Given the description of an element on the screen output the (x, y) to click on. 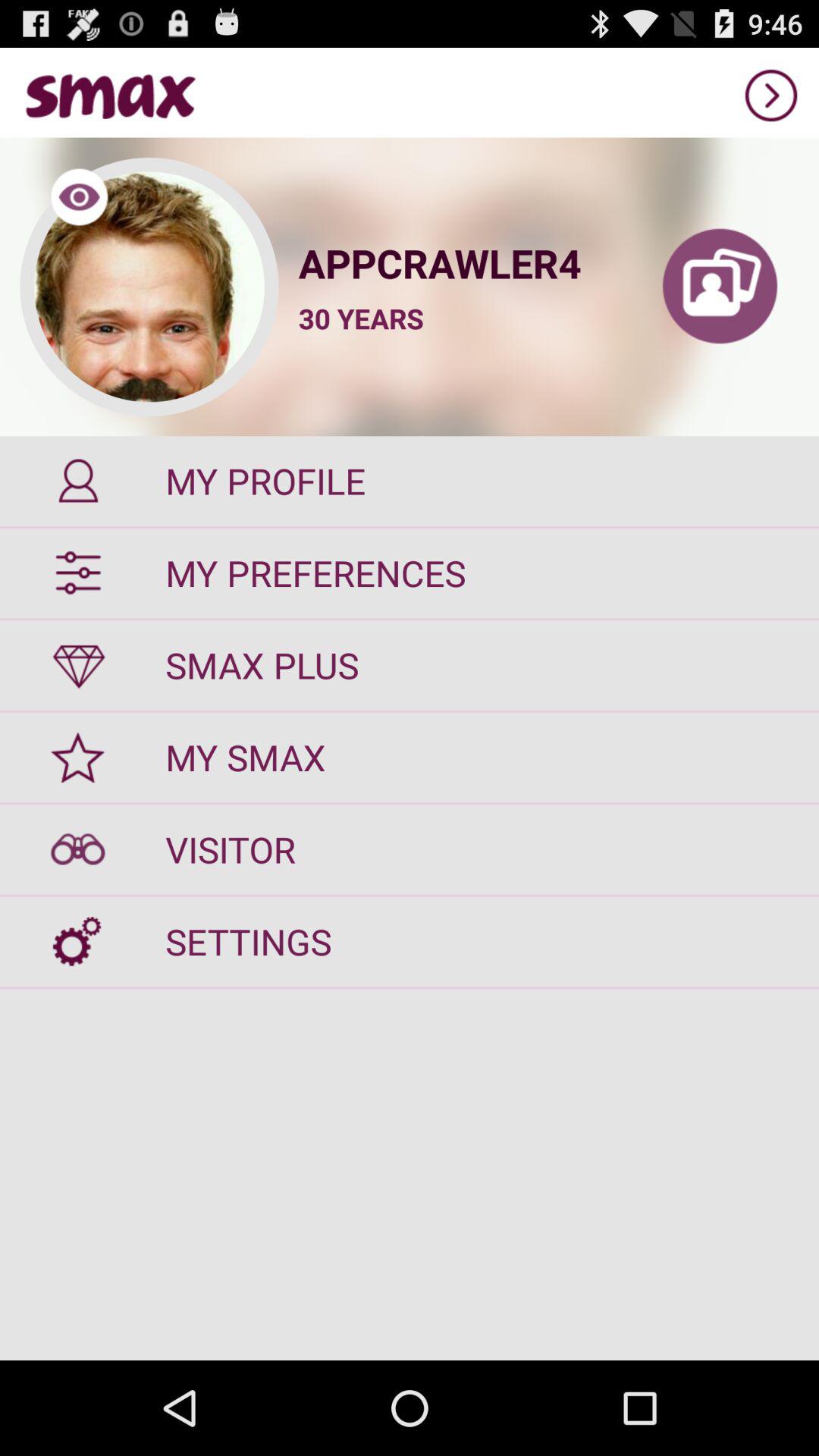
launch icon next to the appcrawler4 (719, 286)
